Given the description of an element on the screen output the (x, y) to click on. 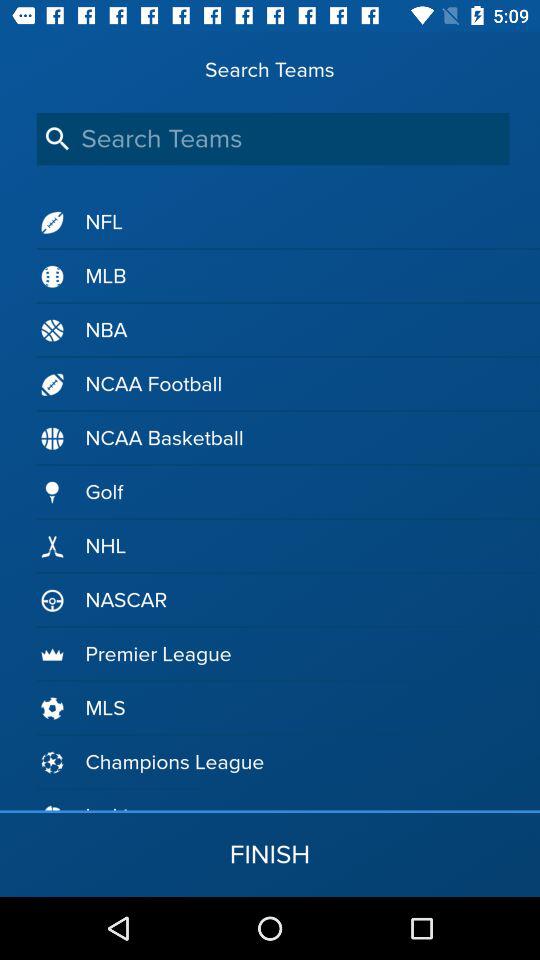
many words are search teams (272, 138)
